Given the description of an element on the screen output the (x, y) to click on. 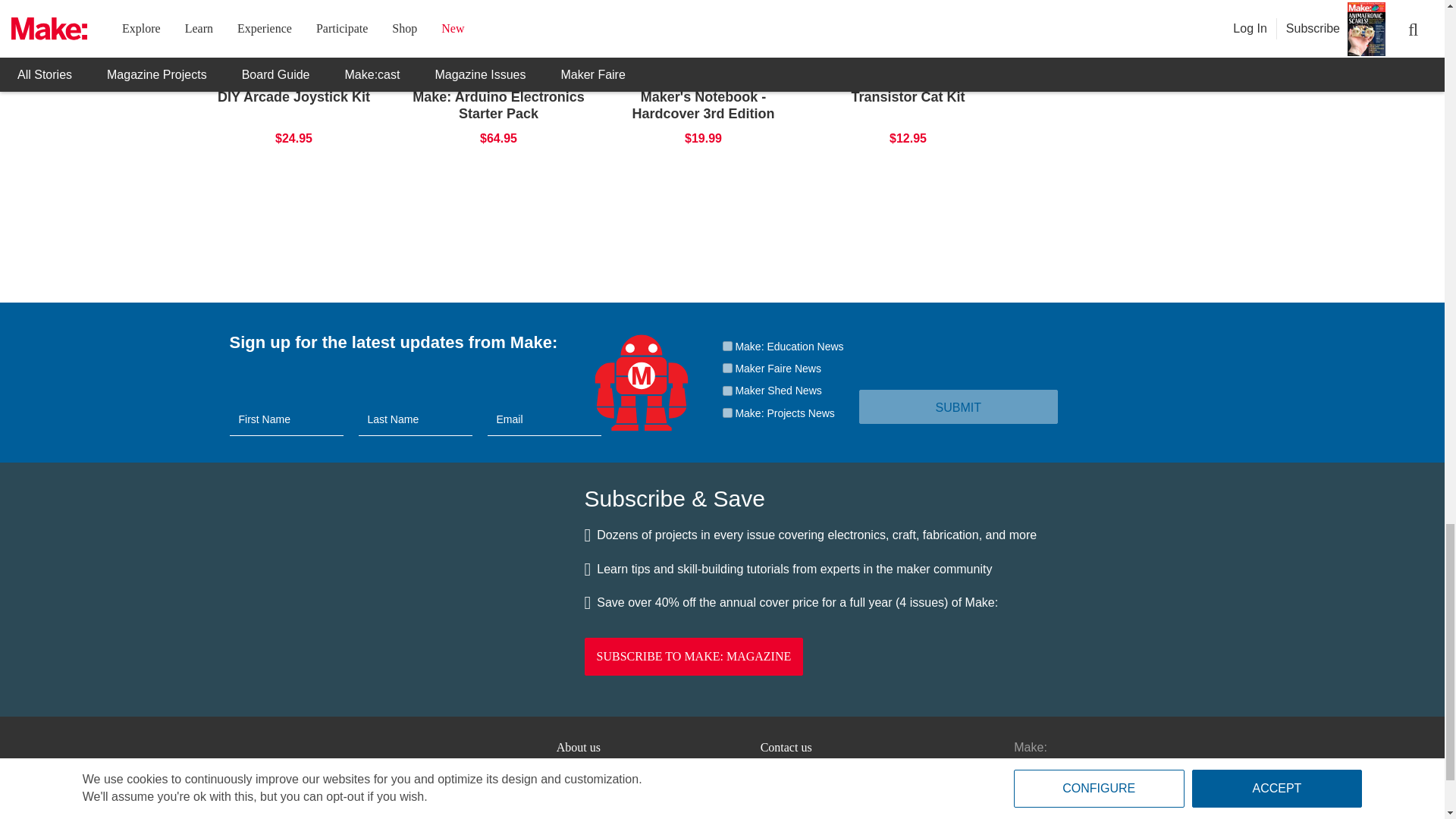
Maker Faire News (727, 368)
Make: Education News (727, 346)
Maker Shed News (727, 390)
Make: Projects News (727, 412)
